Given the description of an element on the screen output the (x, y) to click on. 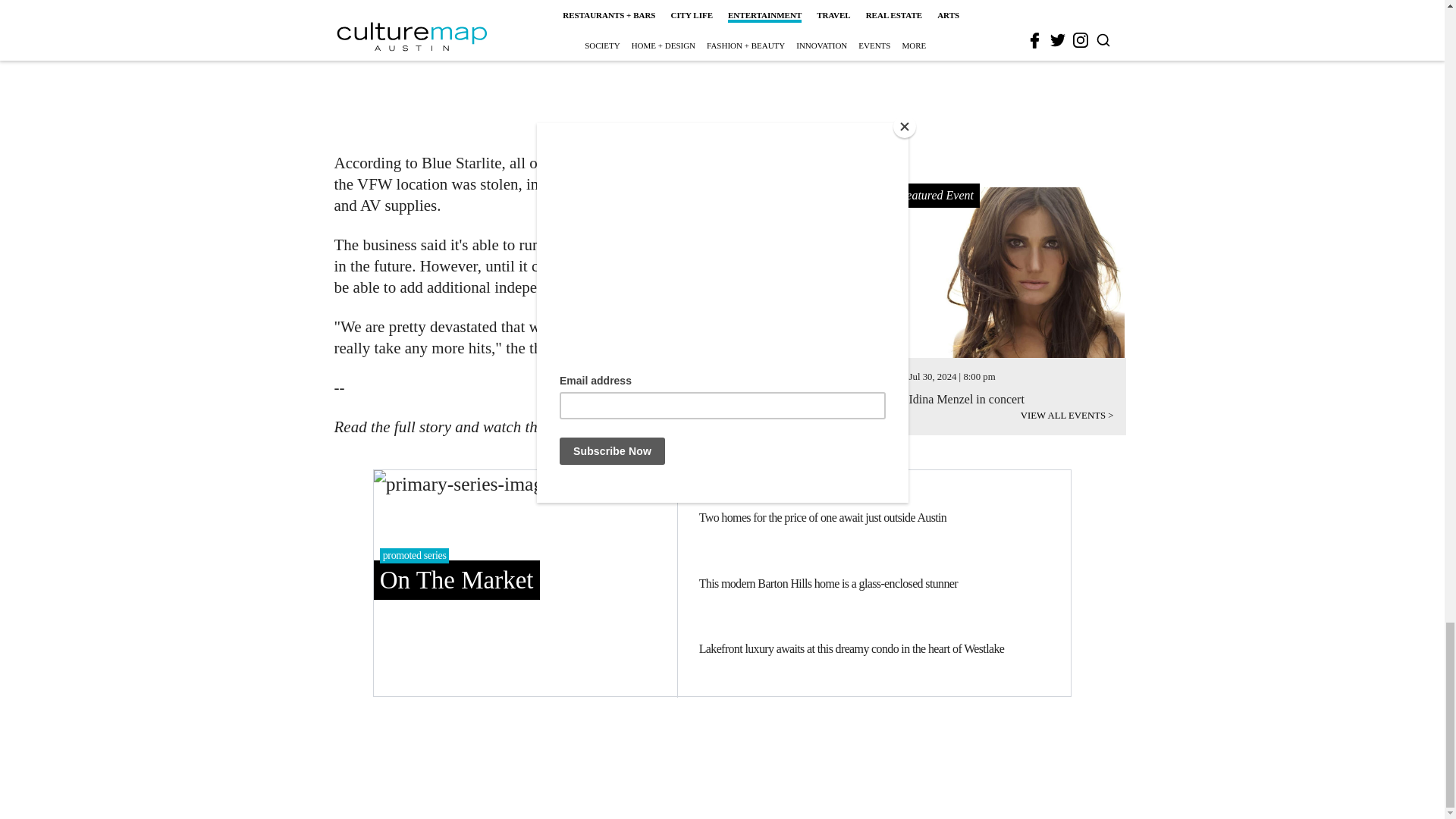
3rd party ad content (600, 67)
primary-link (525, 582)
